Given the description of an element on the screen output the (x, y) to click on. 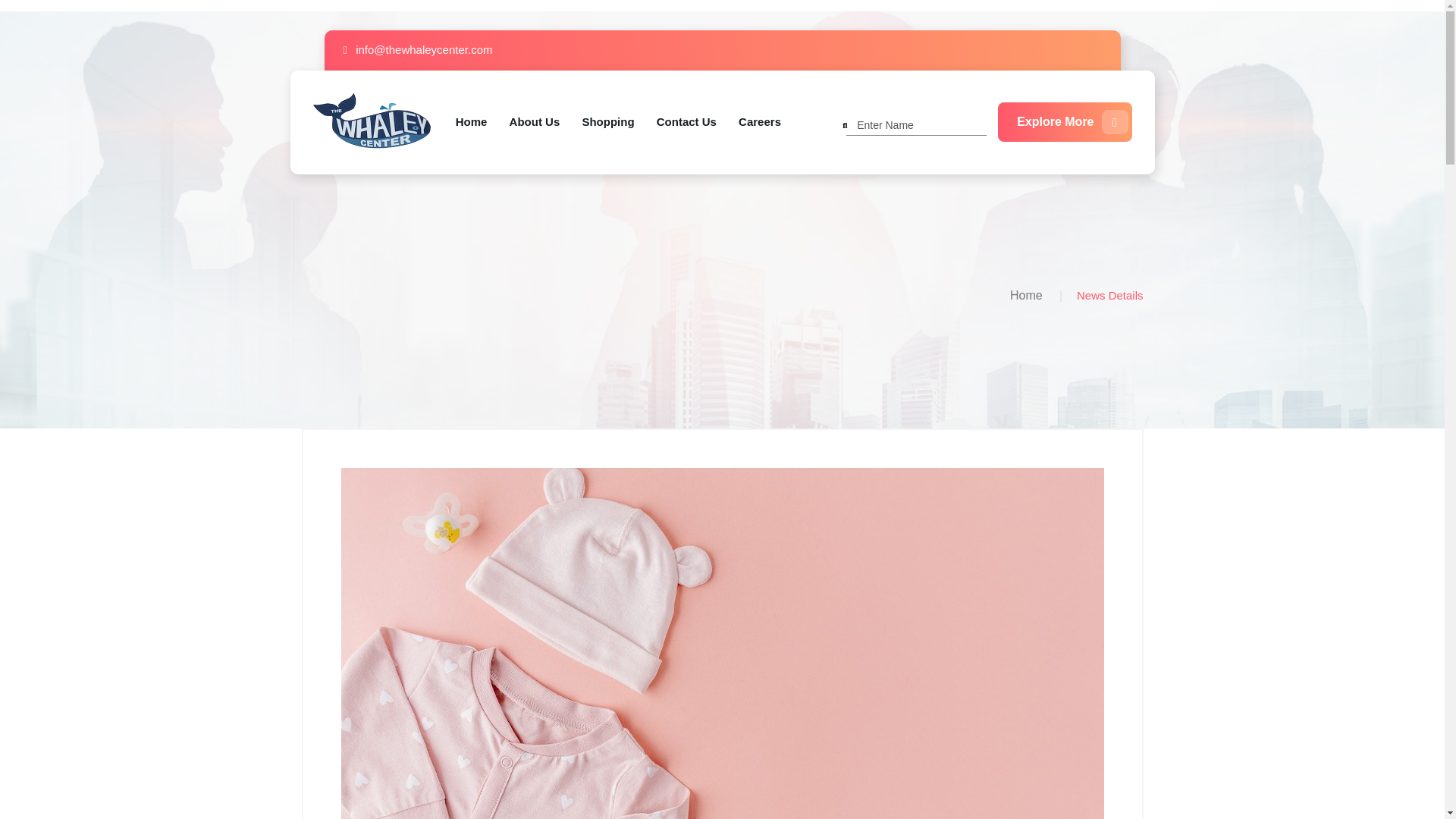
Contact Us (686, 122)
Careers (759, 122)
Home (1026, 295)
About Us (534, 122)
About Us (534, 122)
Shopping (606, 122)
Shopping (606, 122)
Explore More (1064, 121)
Contact Us (686, 122)
Careers (759, 122)
